Given the description of an element on the screen output the (x, y) to click on. 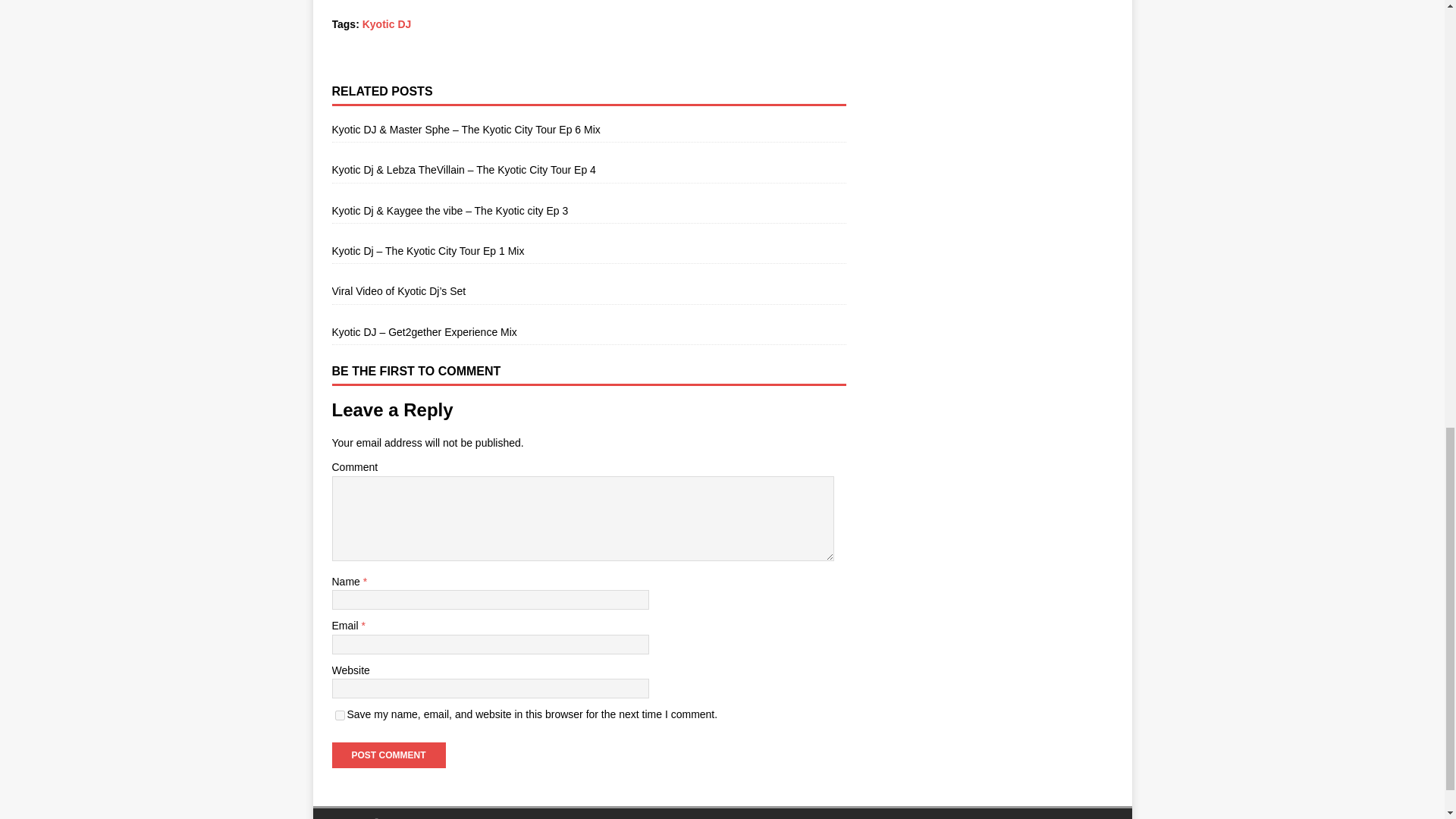
yes (339, 715)
Post Comment (388, 755)
Post Comment (388, 755)
Kyotic DJ (387, 24)
